Given the description of an element on the screen output the (x, y) to click on. 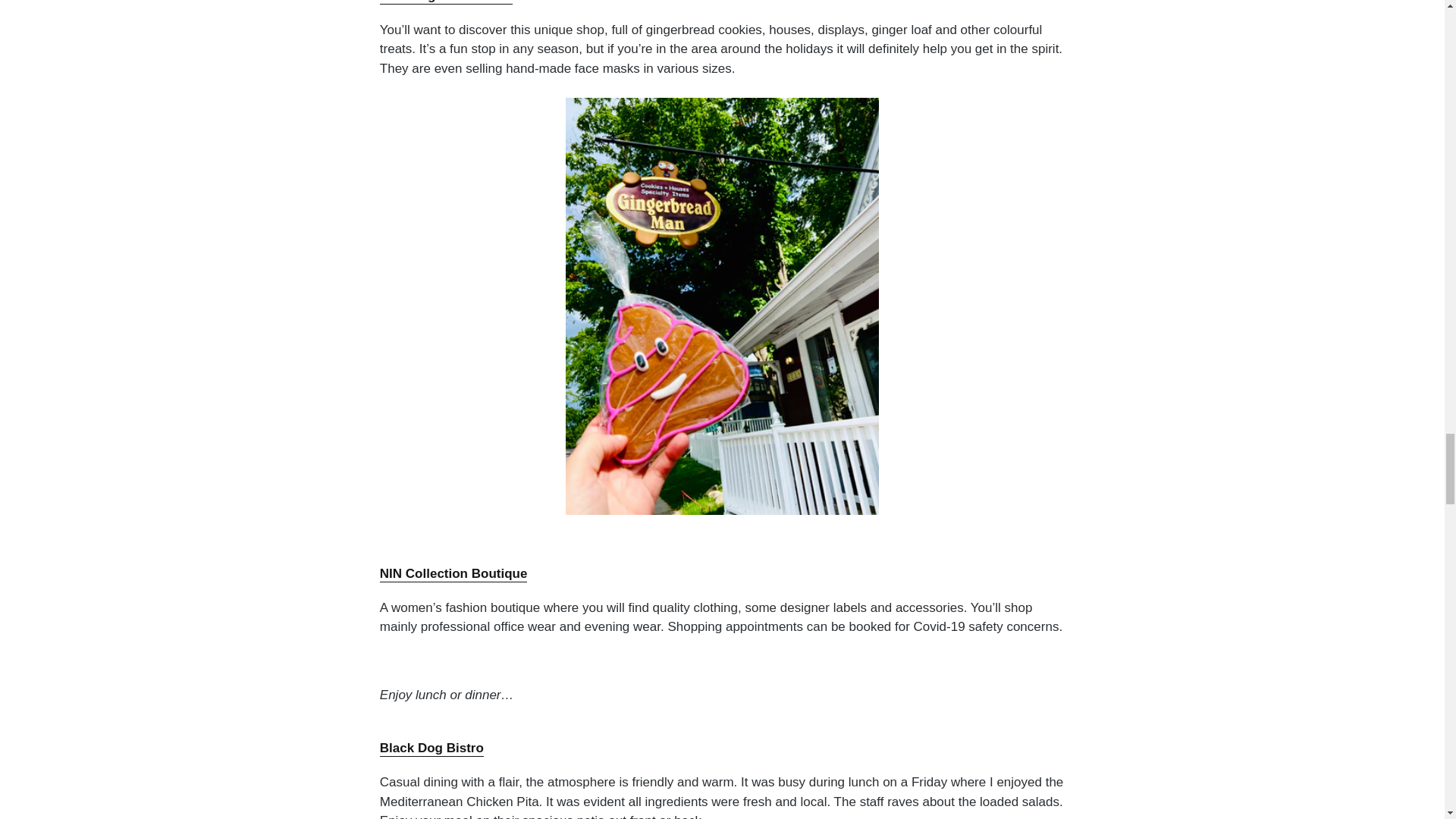
Black Dog Bistro (431, 748)
The Gingerbread Man (446, 2)
Gingerbread Man Manotick, Ottawa gingerbread cookies (446, 2)
NIN Collection Boutique (453, 574)
